Given the description of an element on the screen output the (x, y) to click on. 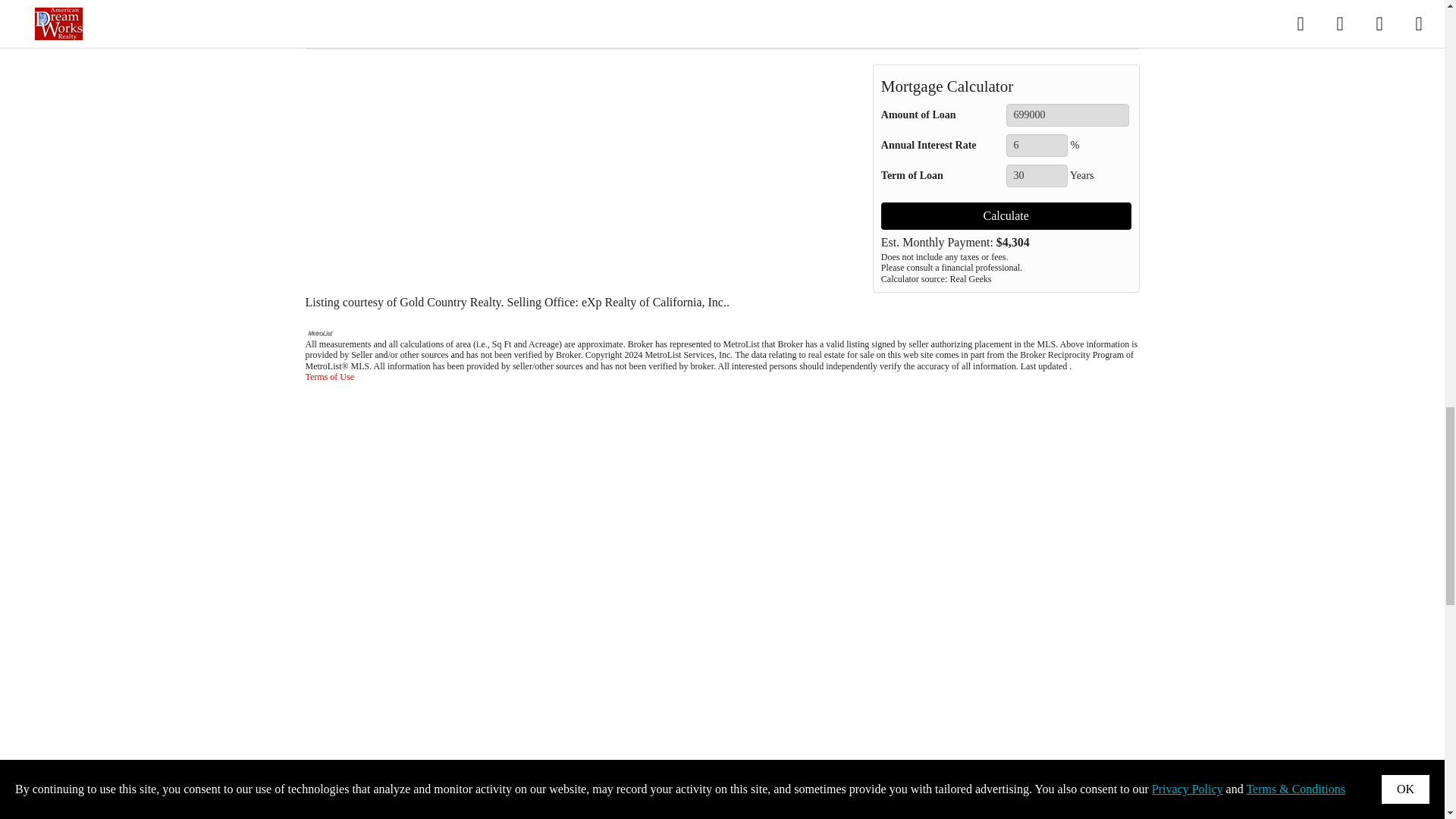
6 (1036, 145)
30 (1036, 175)
699000 (1067, 115)
